Given the description of an element on the screen output the (x, y) to click on. 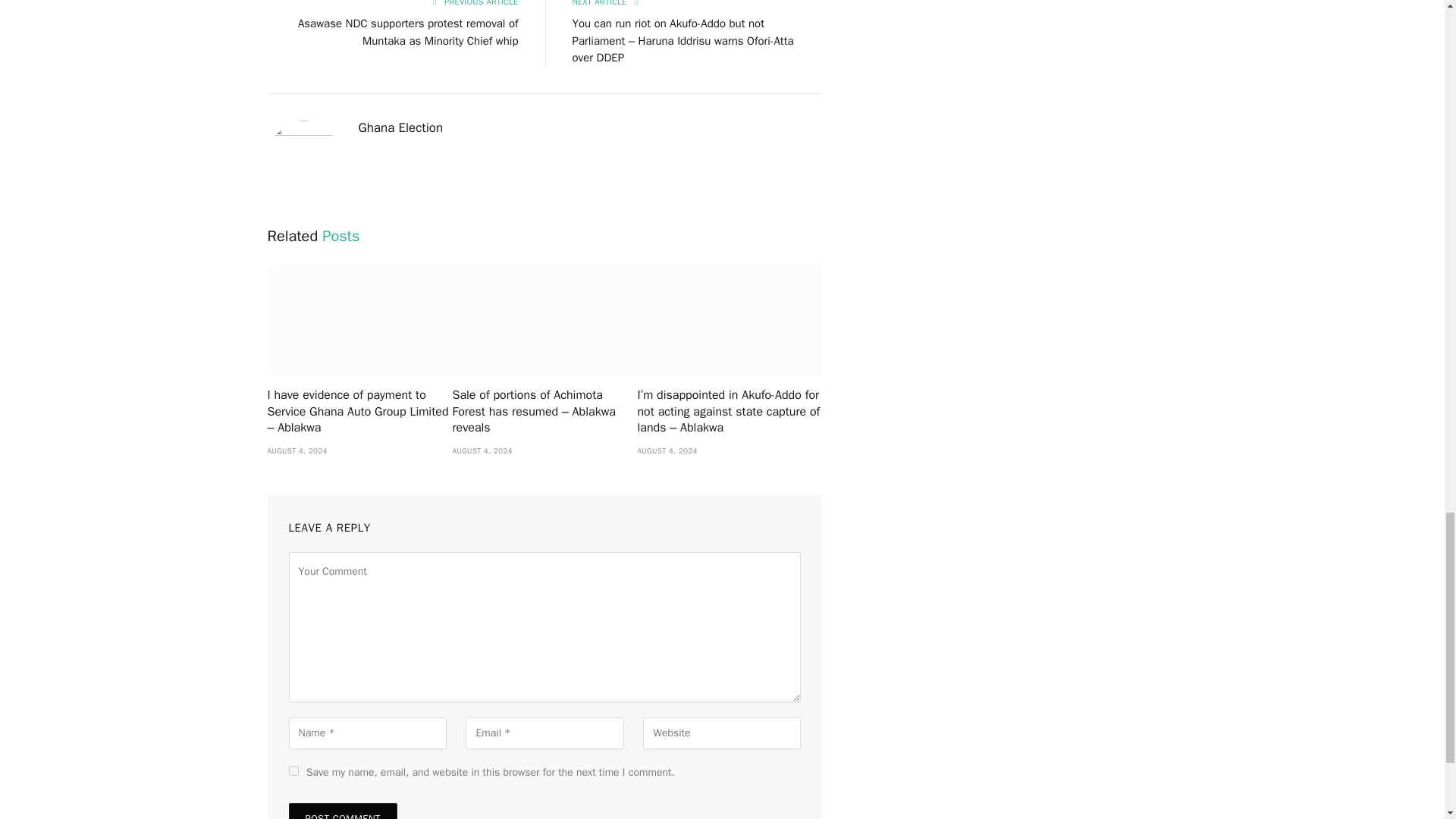
yes (293, 770)
Post Comment (342, 811)
